Given the description of an element on the screen output the (x, y) to click on. 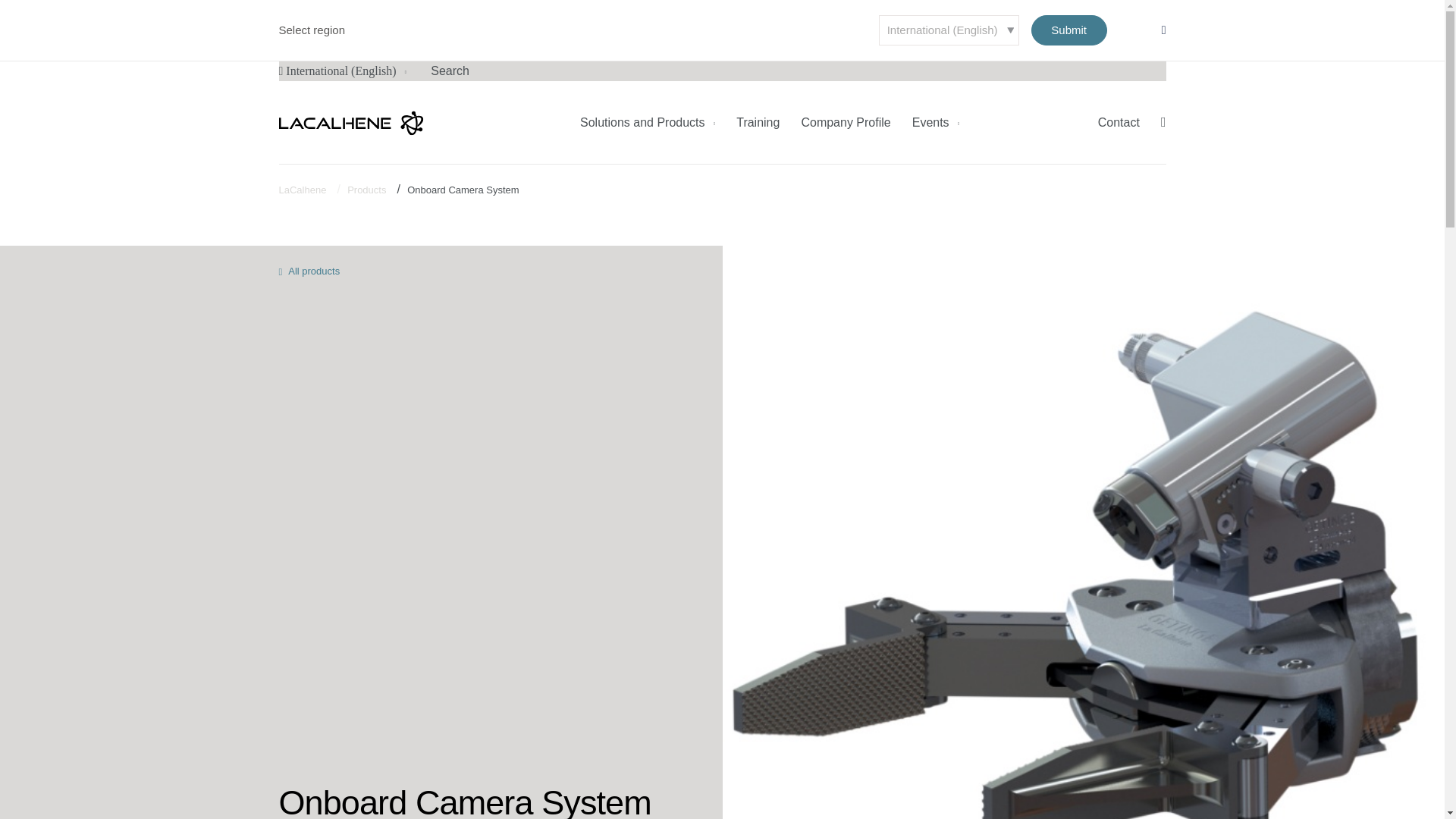
Select language (948, 30)
Training (757, 122)
Search (449, 70)
Select language (342, 70)
All products (309, 271)
Company Profile (844, 122)
LaCalhene (302, 189)
Search (449, 70)
Company Profile (844, 122)
Products (366, 189)
Submit (1068, 30)
Contact (1118, 122)
Training (757, 122)
Onboard Camera System (462, 189)
